Given the description of an element on the screen output the (x, y) to click on. 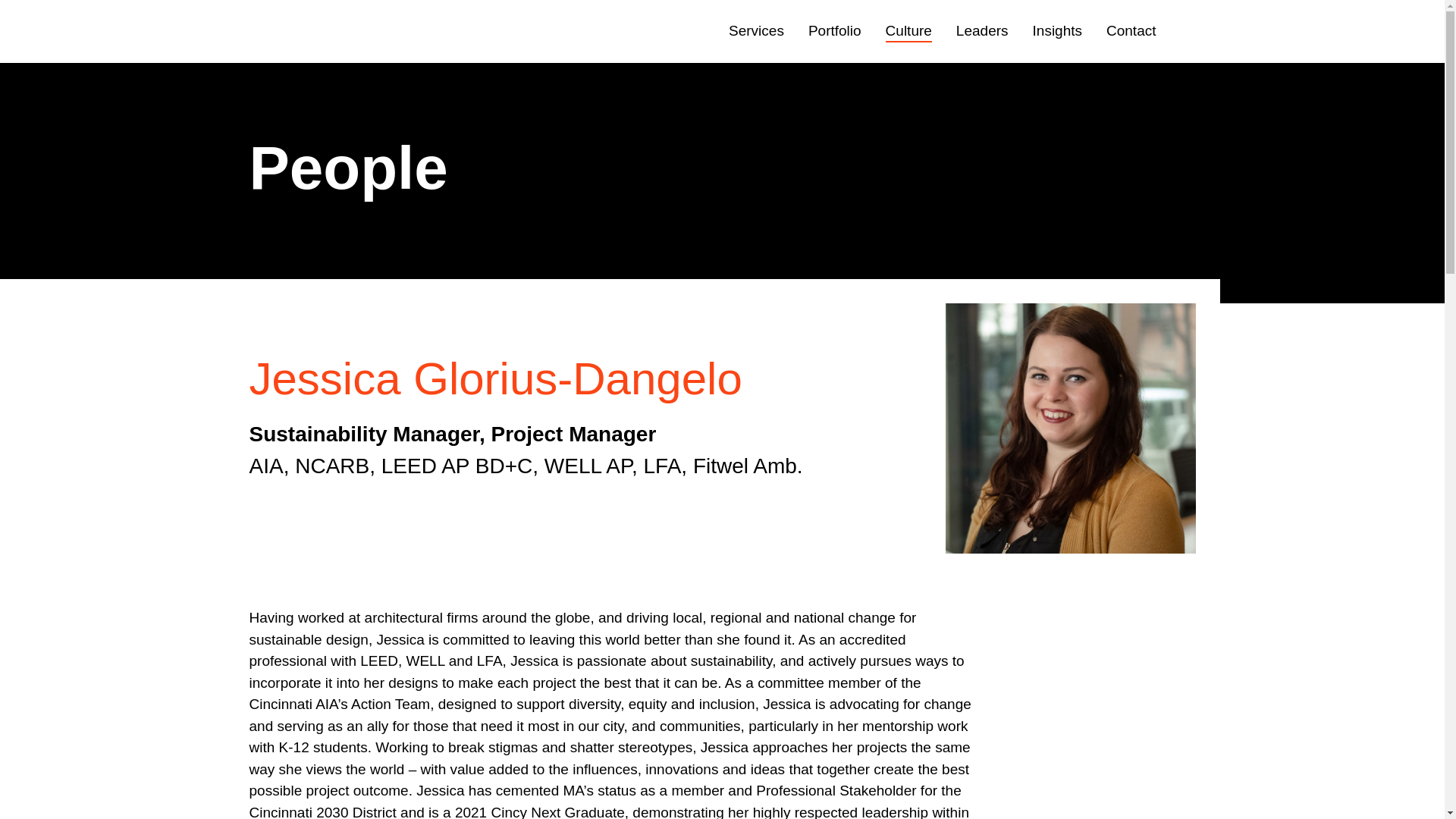
Contact (1131, 32)
MA Design (311, 31)
Leaders (982, 32)
Portfolio (834, 32)
Services (756, 32)
Insights (1056, 32)
Culture (908, 32)
